Given the description of an element on the screen output the (x, y) to click on. 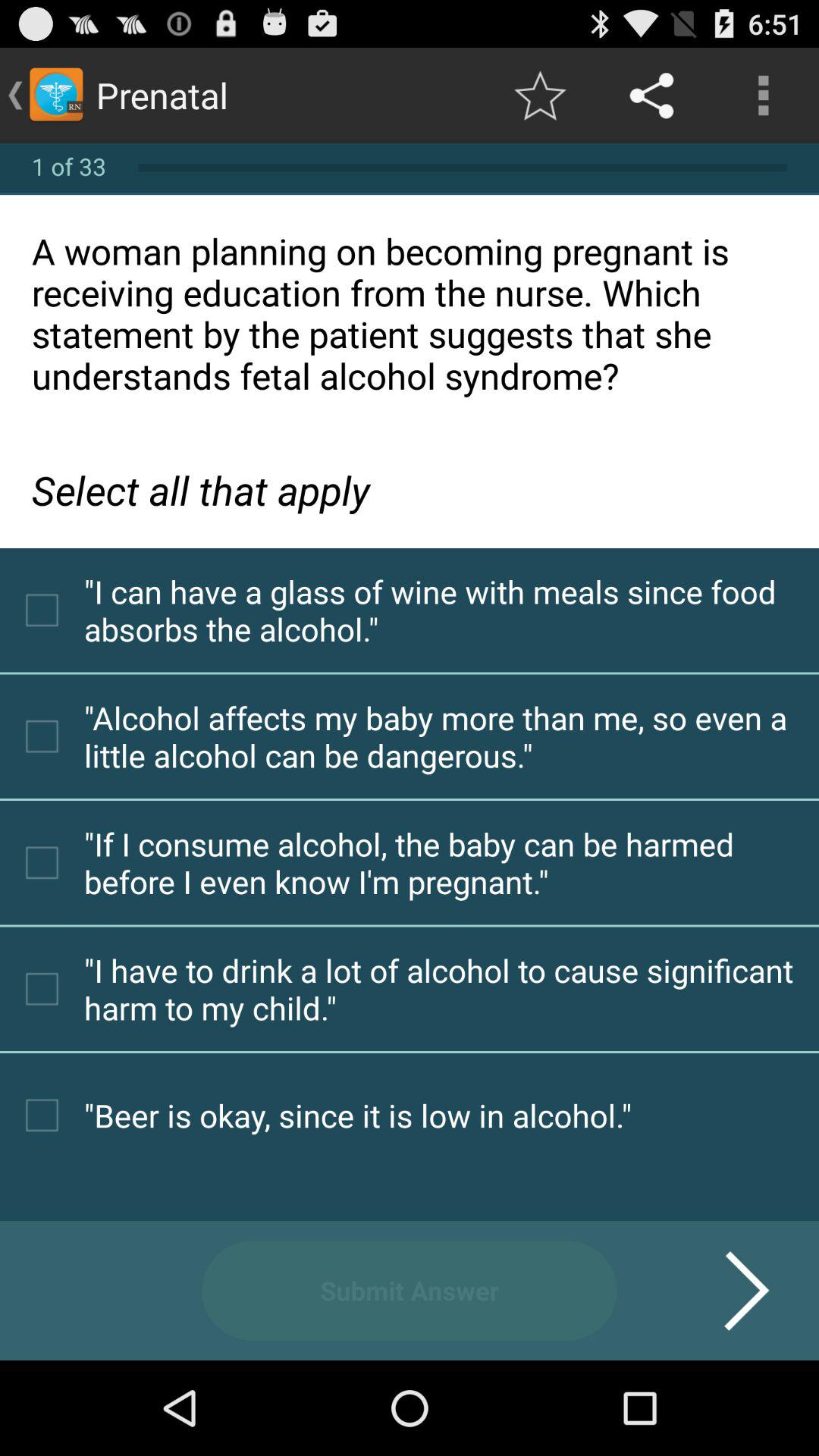
press app next to prenatal app (540, 95)
